Given the description of an element on the screen output the (x, y) to click on. 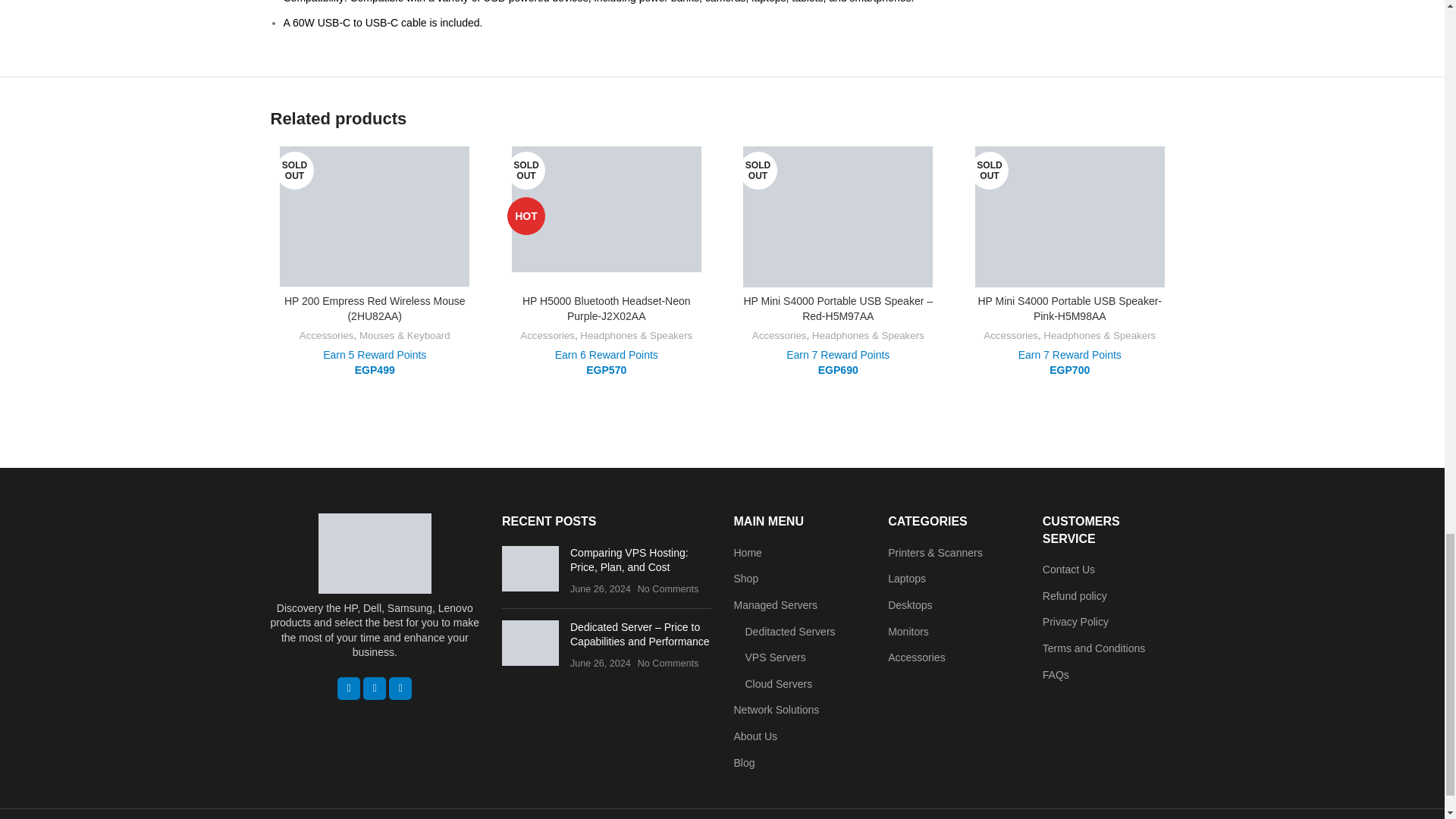
Permalink to Comparing VPS Hosting: Price, Plan, and Cost (629, 560)
